Given the description of an element on the screen output the (x, y) to click on. 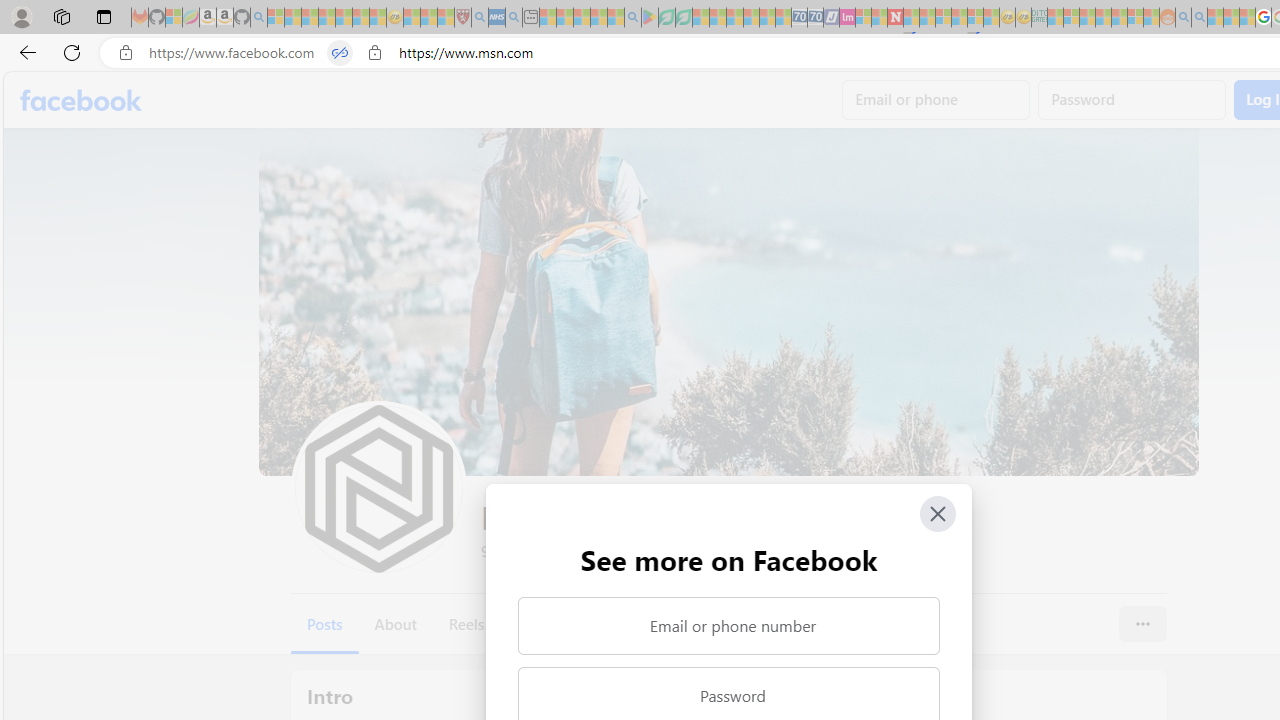
Utah sues federal government - Search - Sleeping (1199, 17)
Bluey: Let's Play! - Apps on Google Play - Sleeping (649, 17)
Password (1132, 99)
utah sues federal government - Search - Sleeping (513, 17)
